Given the description of an element on the screen output the (x, y) to click on. 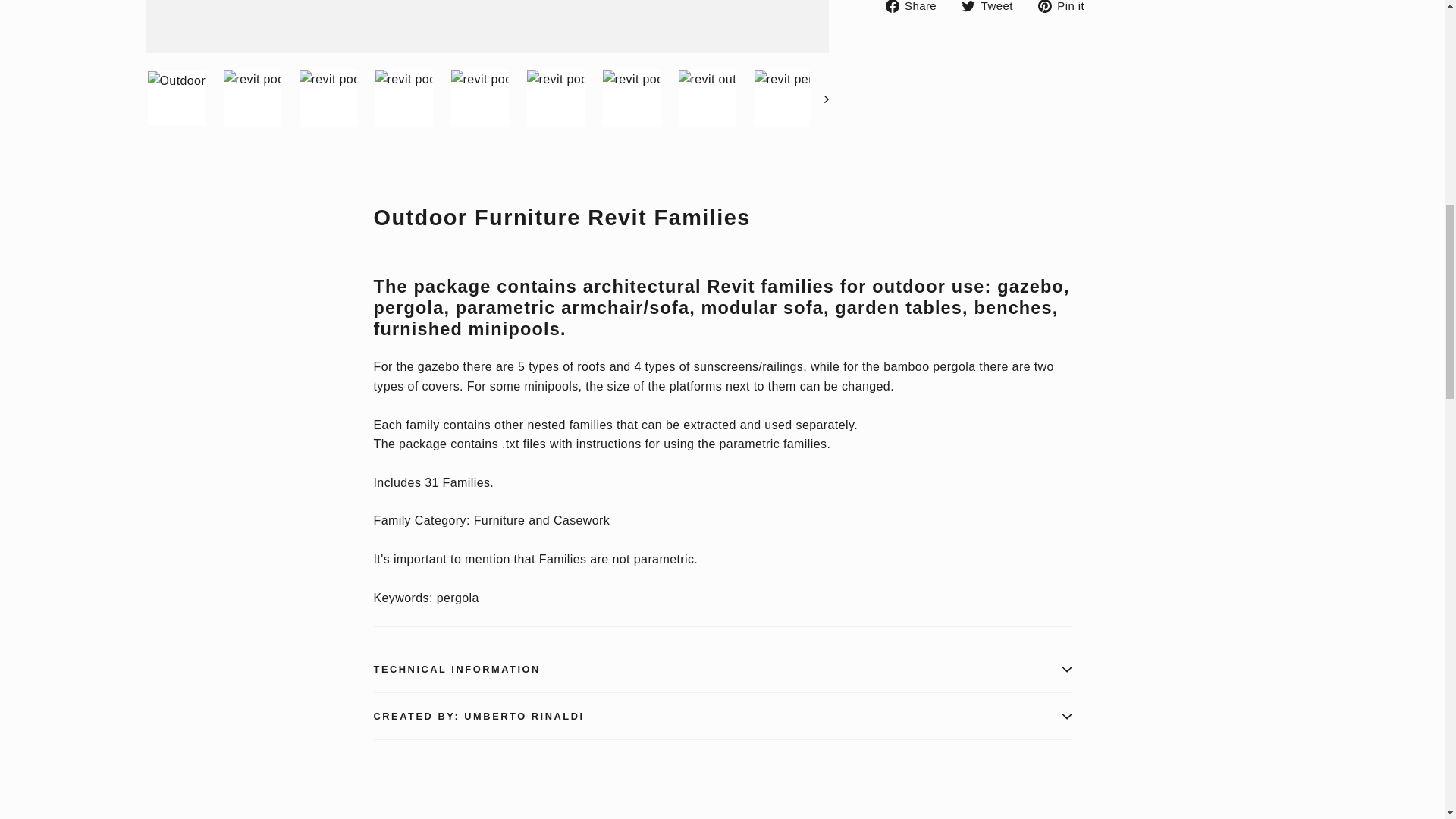
Pin on Pinterest (1067, 7)
Tweet on Twitter (992, 7)
Share on Facebook (917, 7)
